Given the description of an element on the screen output the (x, y) to click on. 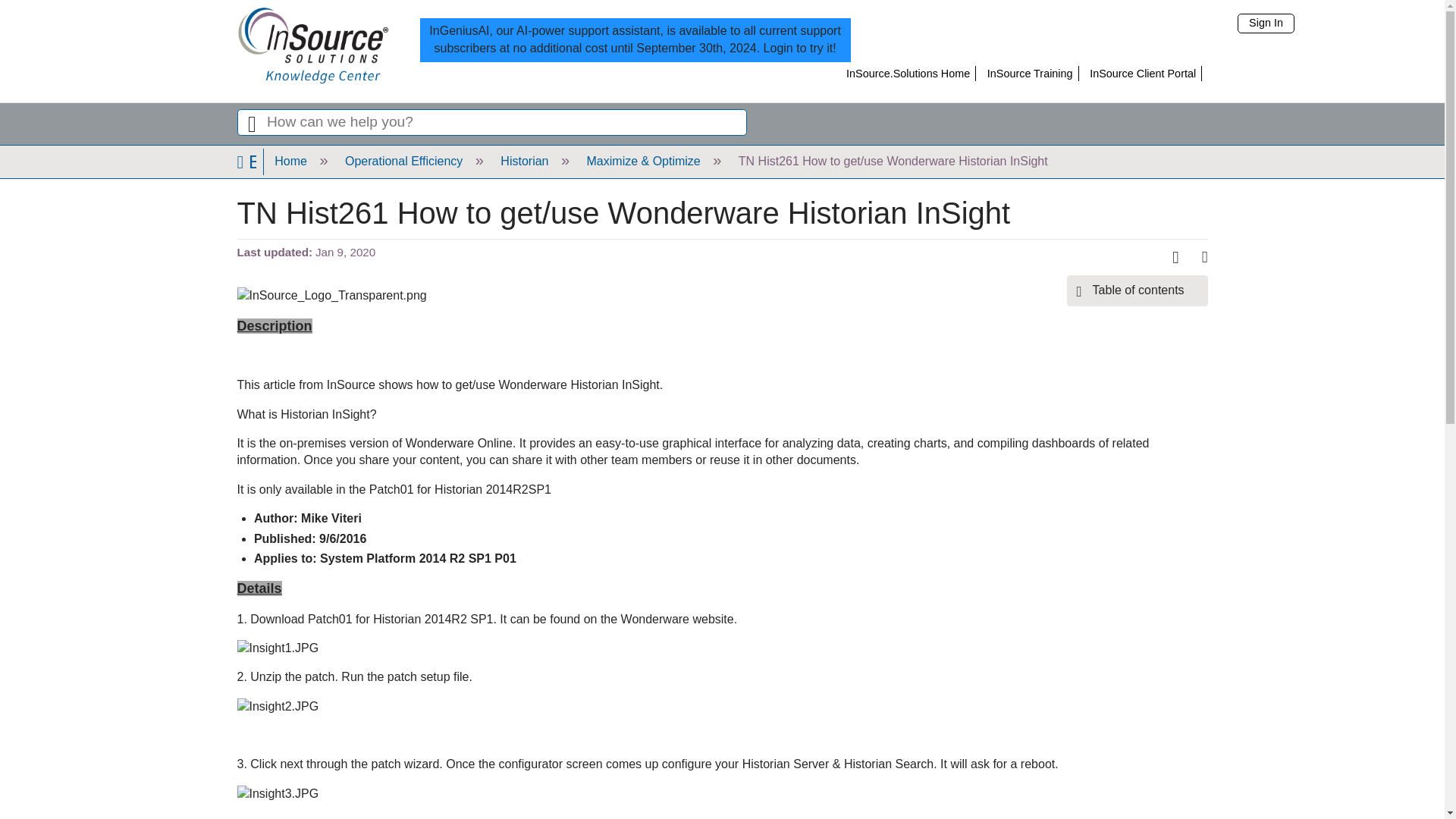
Search (250, 122)
Sign In (1266, 23)
Table of contents (1137, 290)
Operational Efficiency (402, 160)
InSource.Solutions Home (907, 73)
InSource Client Portal (1142, 73)
InSource Training (1030, 73)
Home (289, 160)
Historian (523, 160)
